Given the description of an element on the screen output the (x, y) to click on. 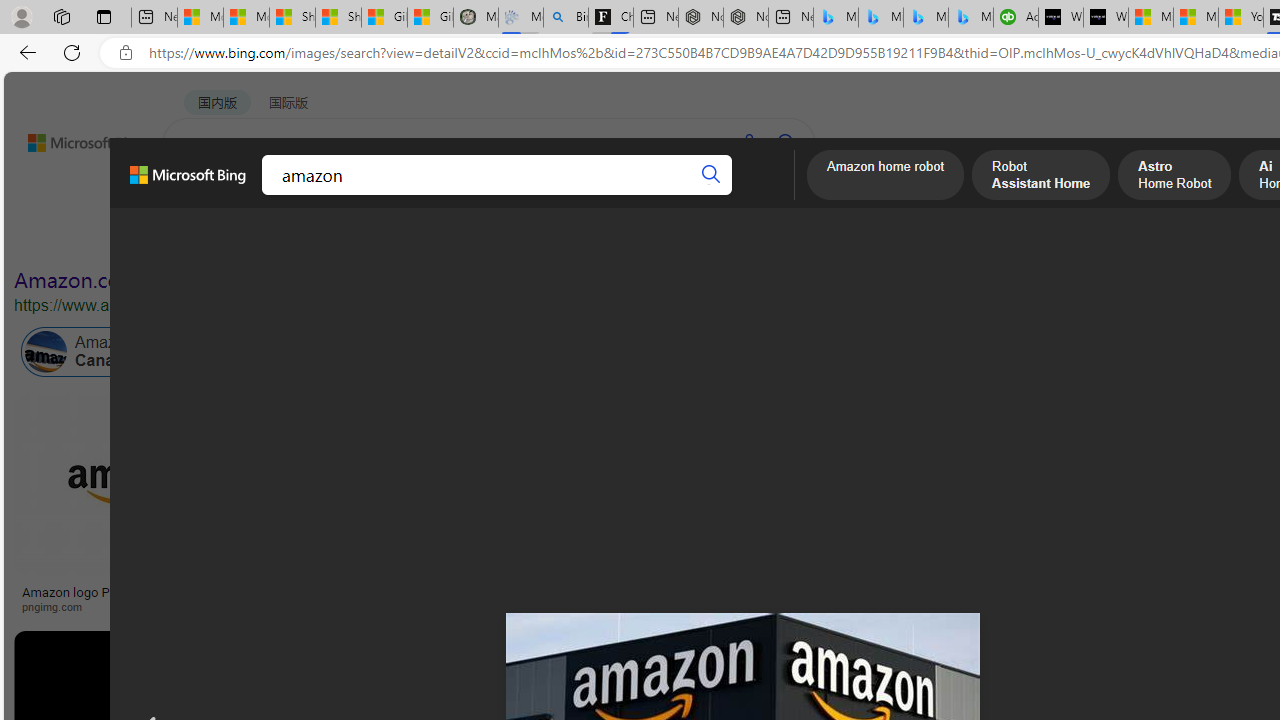
Personal Profile (21, 16)
Amazon Cloud (564, 351)
Collections (367, 195)
mytotalretail.com (319, 605)
What's the best AI voice generator? - voice.ai (1105, 17)
Back to Bing search (73, 138)
People (520, 237)
Collections (367, 196)
Class: item col (893, 351)
IMAGES (274, 196)
pngimg.com (58, 605)
Image size (222, 237)
Robot Assistant Home (1041, 177)
